Given the description of an element on the screen output the (x, y) to click on. 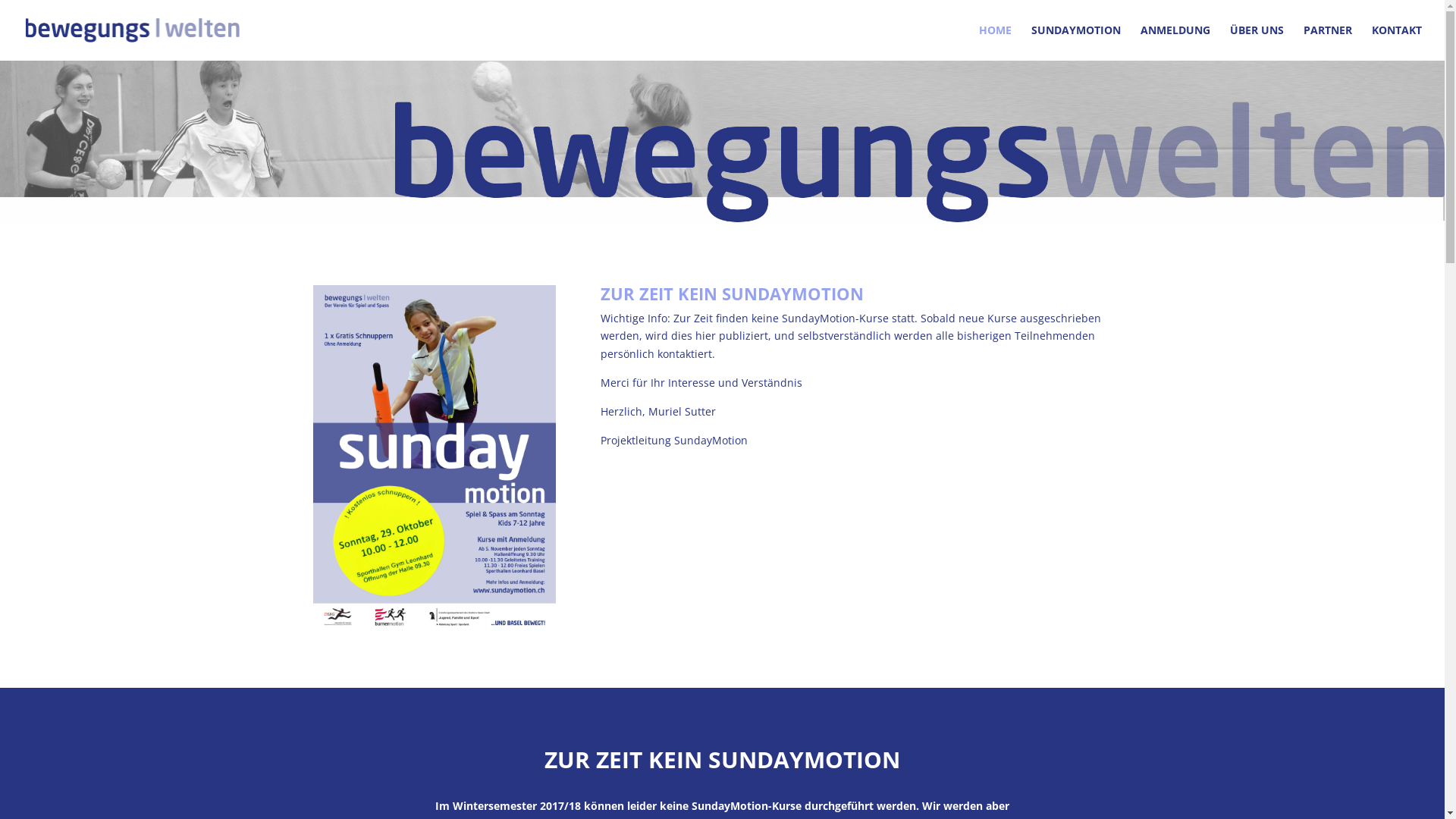
SUNDAYMOTION Element type: text (1075, 42)
KONTAKT Element type: text (1396, 42)
HOME Element type: text (995, 42)
ANMELDUNG Element type: text (1175, 42)
PARTNER Element type: text (1327, 42)
